Given the description of an element on the screen output the (x, y) to click on. 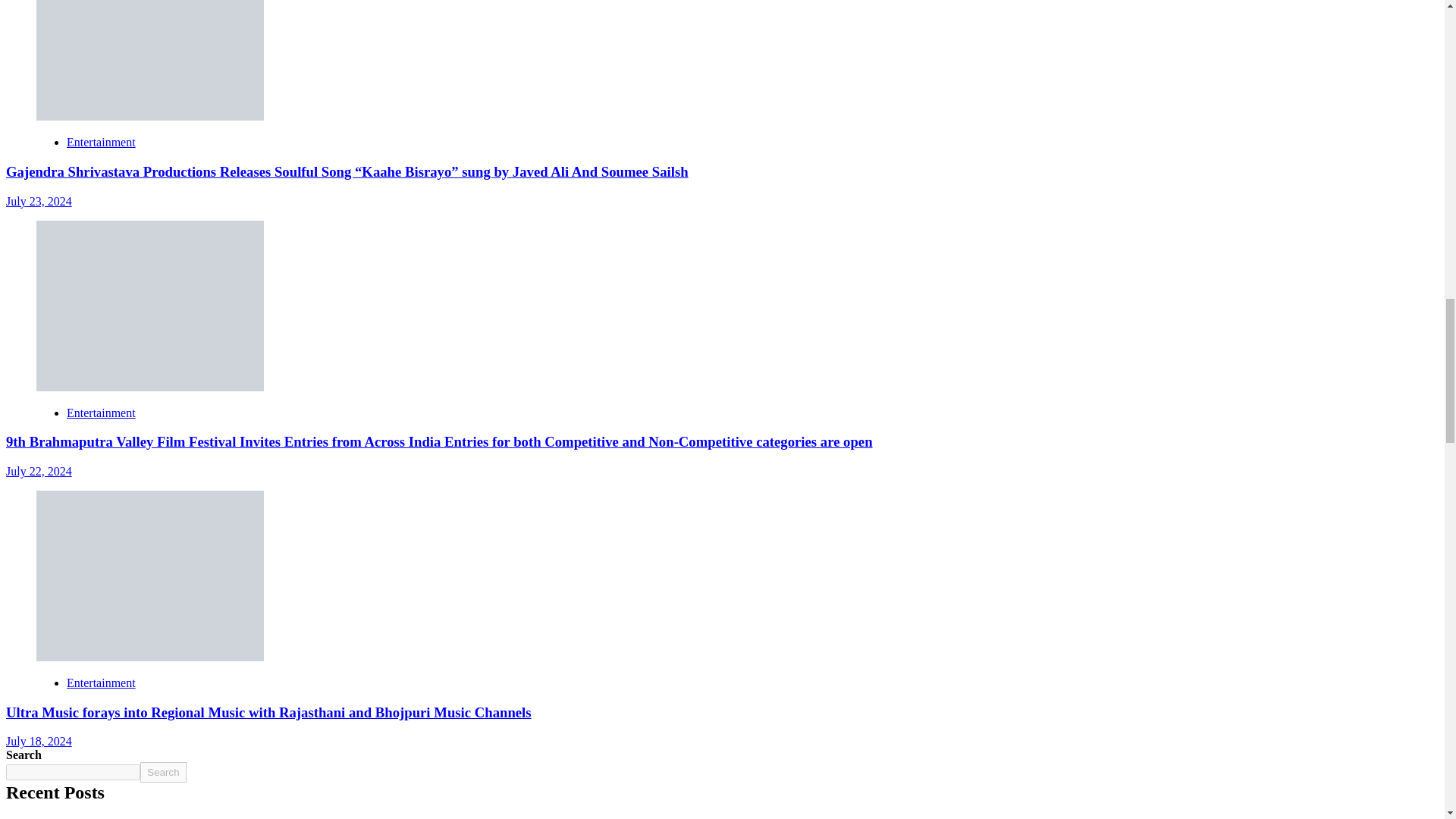
Entertainment (100, 141)
July 23, 2024 (38, 200)
Entertainment (100, 412)
July 22, 2024 (38, 471)
